Given the description of an element on the screen output the (x, y) to click on. 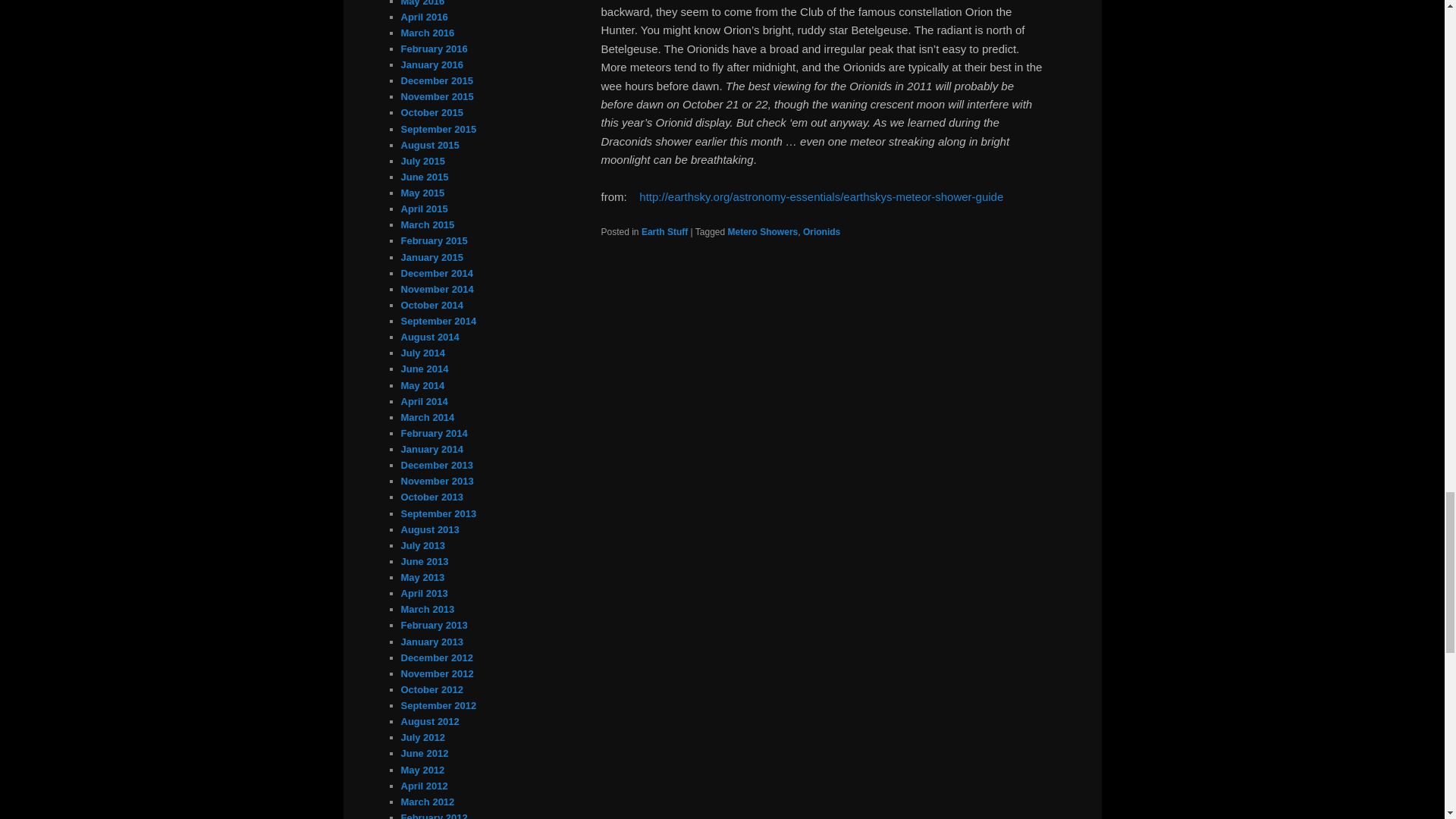
Earth Stuff (664, 231)
Metero Showers (762, 231)
Orionids (821, 231)
